Given the description of an element on the screen output the (x, y) to click on. 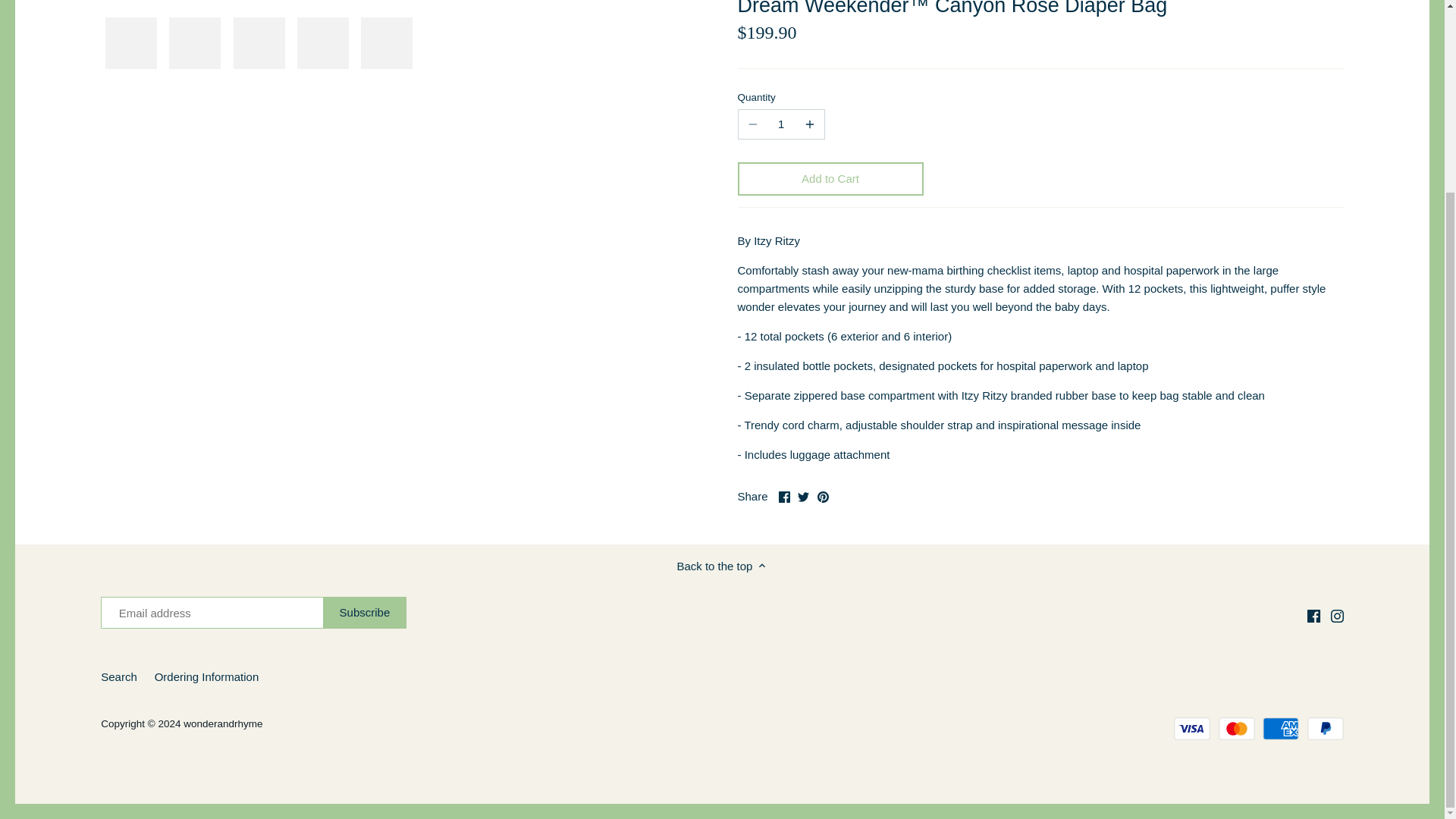
1 (781, 123)
Instagram (1336, 615)
Subscribe (365, 612)
Facebook (784, 496)
Mastercard (1236, 728)
Pinterest (822, 496)
Facebook (1313, 615)
Add to Cart (829, 178)
wonderandrhyme (222, 723)
Visa (1191, 728)
